Given the description of an element on the screen output the (x, y) to click on. 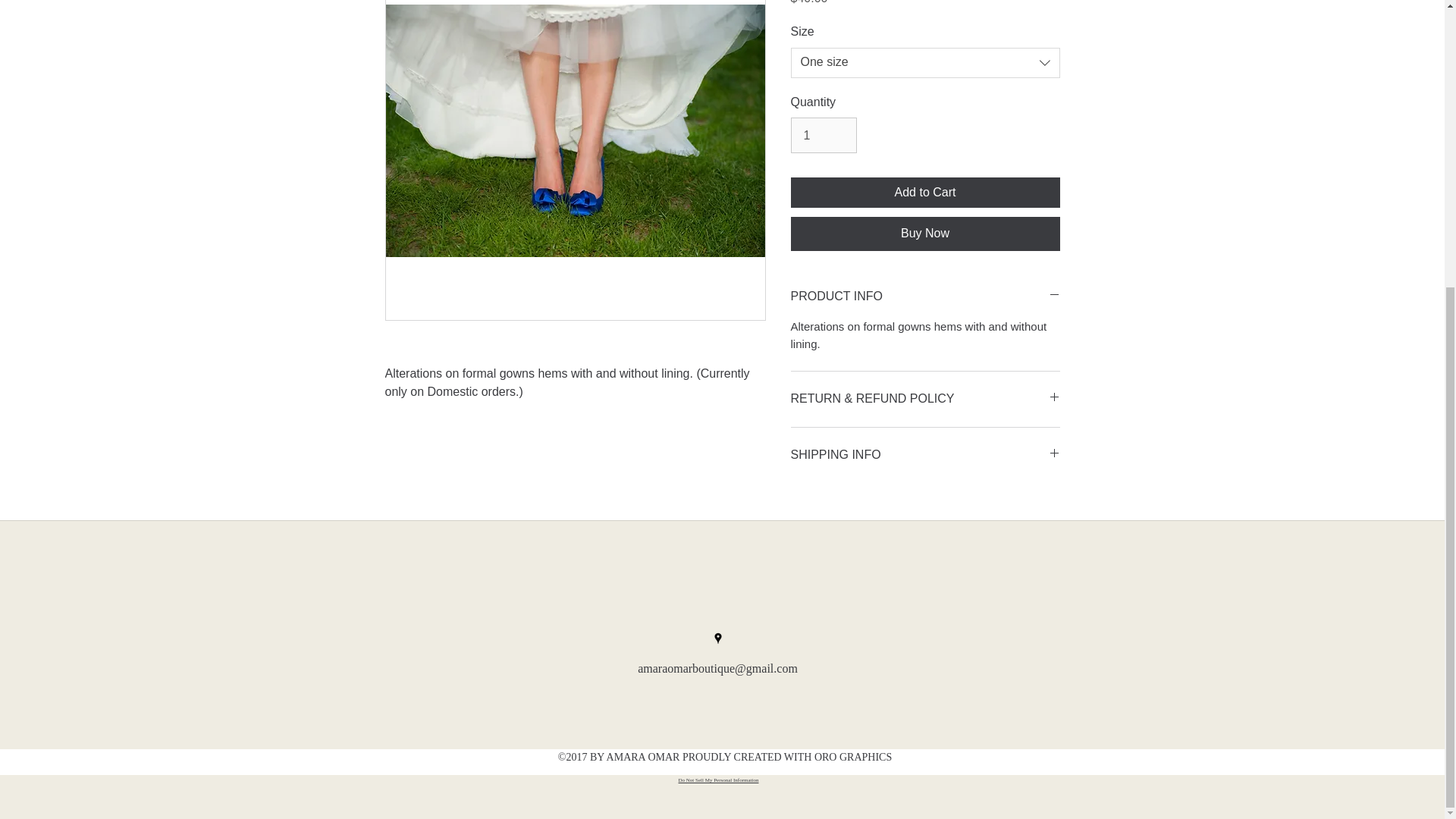
Buy Now (924, 233)
Do Not Sell My Personal Information (718, 780)
1 (823, 134)
SHIPPING INFO (924, 455)
One size (924, 62)
Add to Cart (924, 192)
PRODUCT INFO (924, 296)
